Given the description of an element on the screen output the (x, y) to click on. 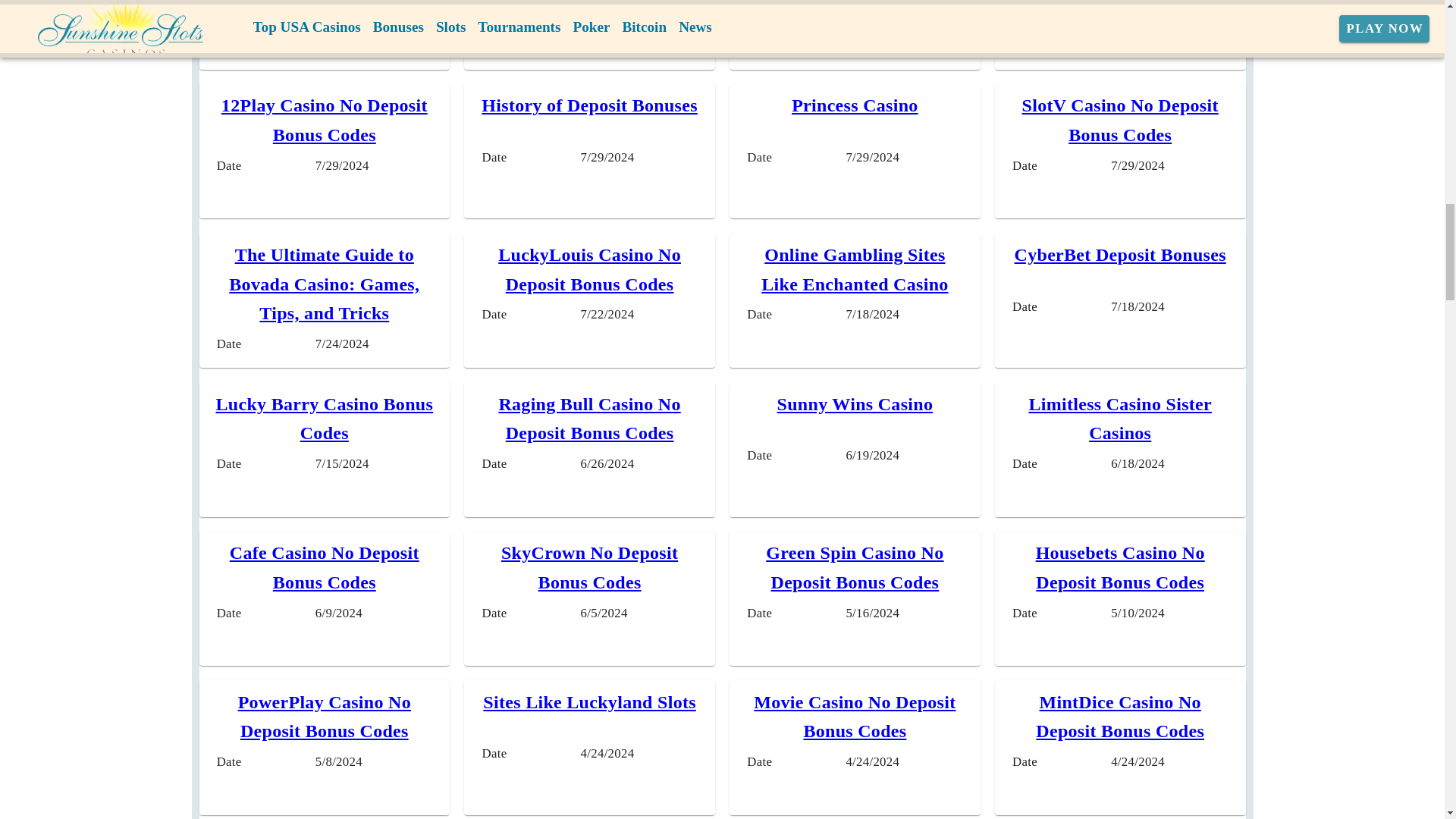
The Ultimate Guide to Bovada Casino: Games, Tips, and Tricks (323, 283)
12Play Casino No Deposit Bonus Codes (324, 119)
Online Gambling Sites Like Enchanted Casino (854, 268)
History of Deposit Bonuses (589, 105)
LuckyLouis Casino No Deposit Bonus Codes (589, 268)
Princess Casino (855, 105)
SlotV Casino No Deposit Bonus Codes (1120, 119)
